Given the description of an element on the screen output the (x, y) to click on. 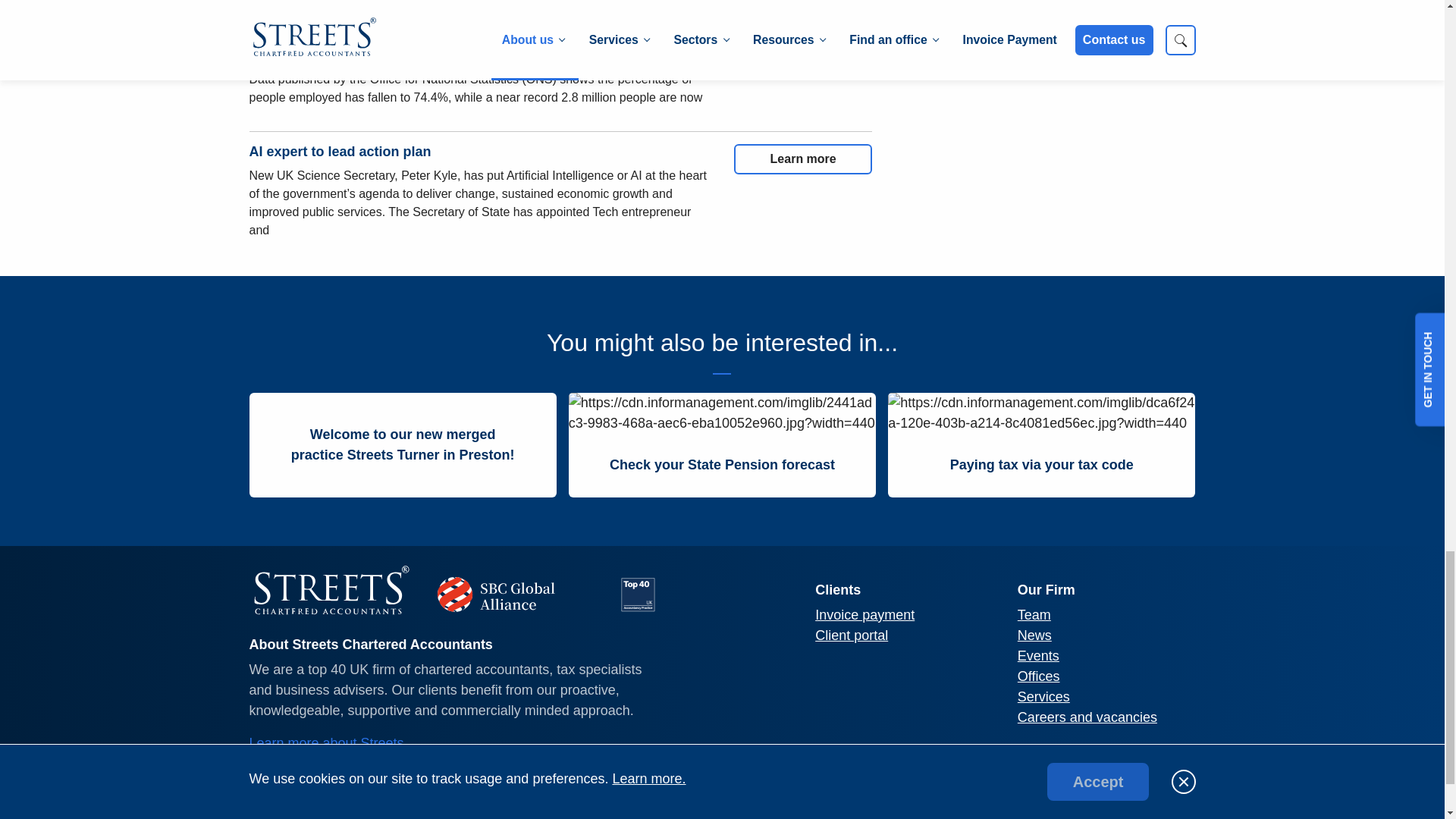
Read Paying tax via your tax code (1042, 465)
Read AI expert to lead action plan (801, 159)
Read Check your State Pension forecast (722, 465)
Read Labour market stats not encouraging (801, 44)
